Given the description of an element on the screen output the (x, y) to click on. 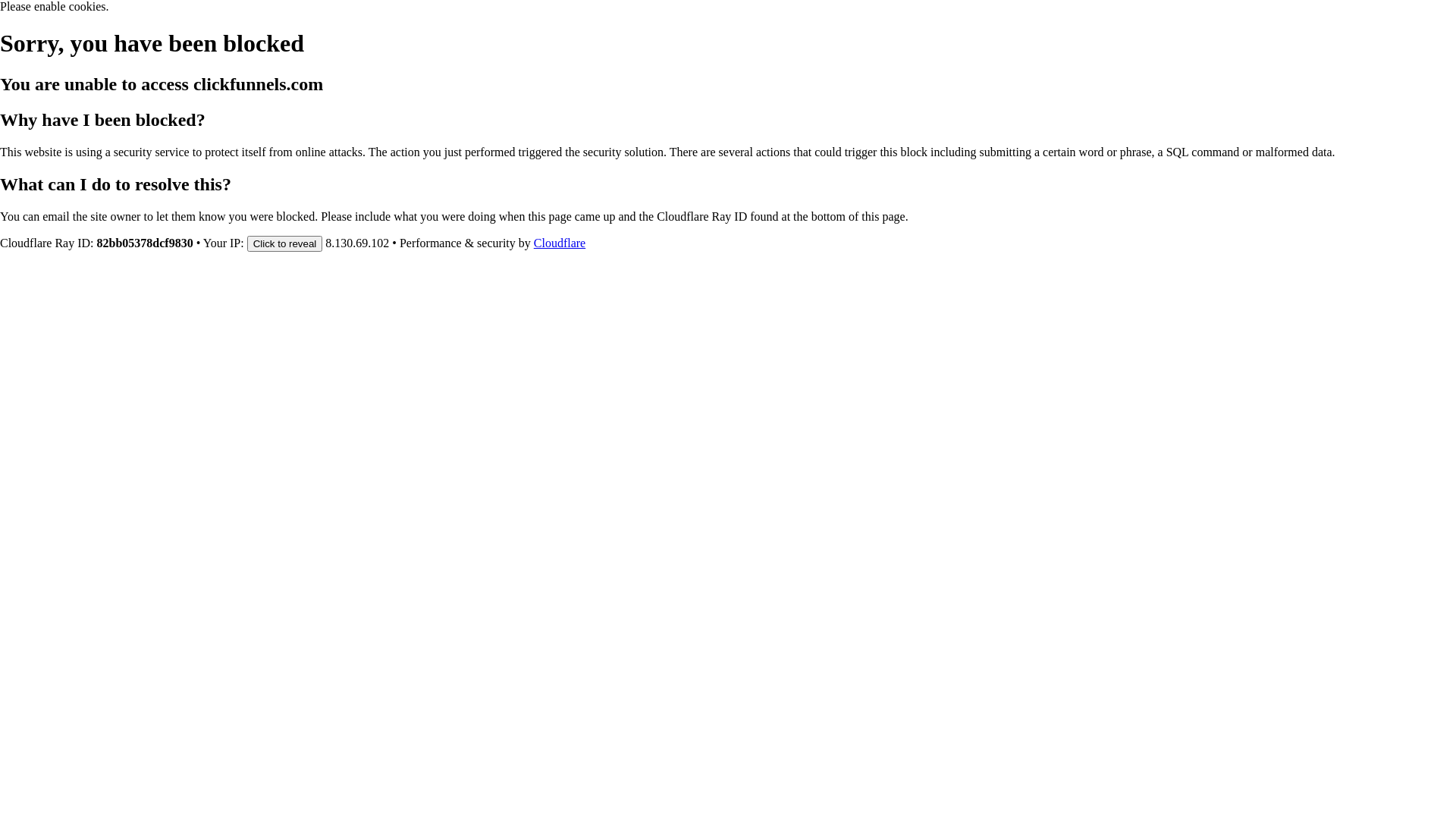
Cloudflare Element type: text (559, 242)
Click to reveal Element type: text (285, 243)
